Given the description of an element on the screen output the (x, y) to click on. 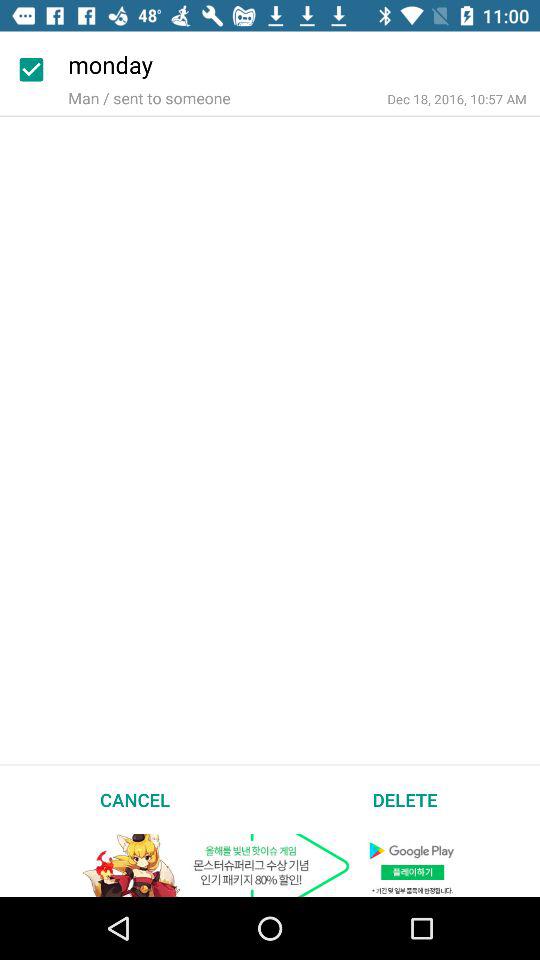
turn on icon next to dec 18 2016 item (149, 97)
